Given the description of an element on the screen output the (x, y) to click on. 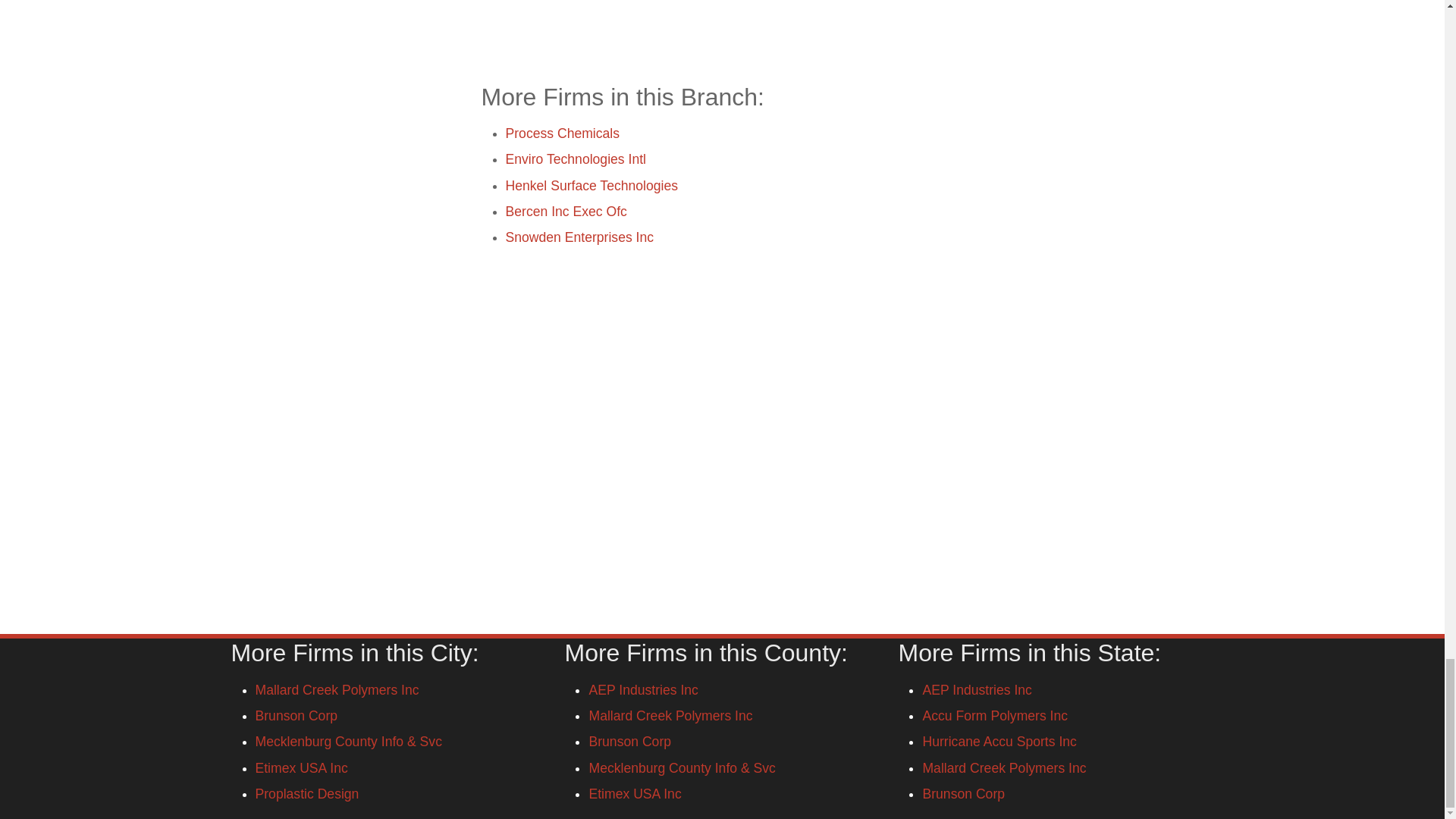
Enviro Technologies Intl (575, 159)
Snowden Enterprises Inc (579, 237)
Henkel Surface Technologies (591, 185)
Process Chemicals (562, 133)
Bercen Inc Exec Ofc (565, 211)
